Given the description of an element on the screen output the (x, y) to click on. 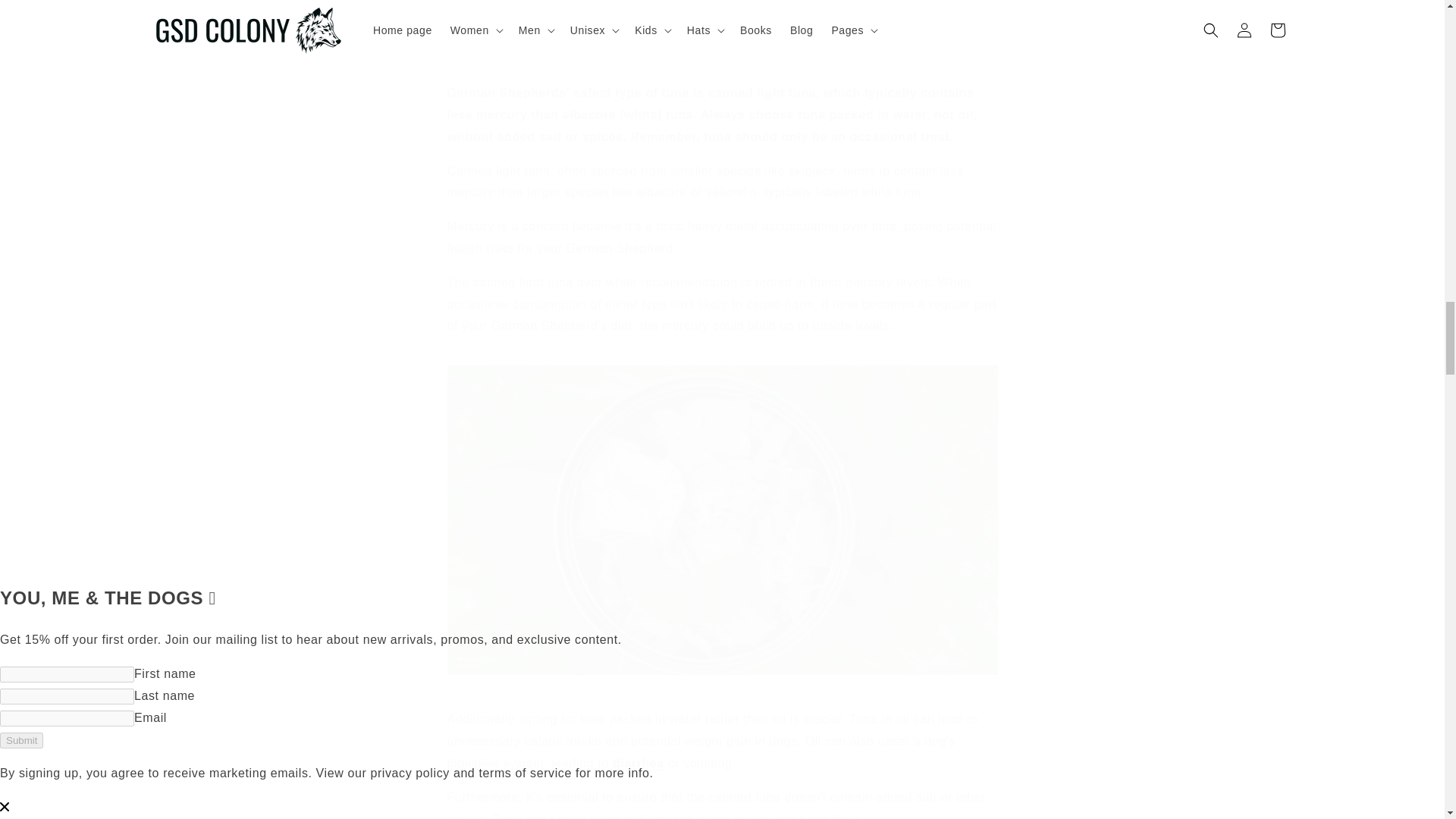
How to treat German Shepherd diarrhea? (637, 762)
